Given the description of an element on the screen output the (x, y) to click on. 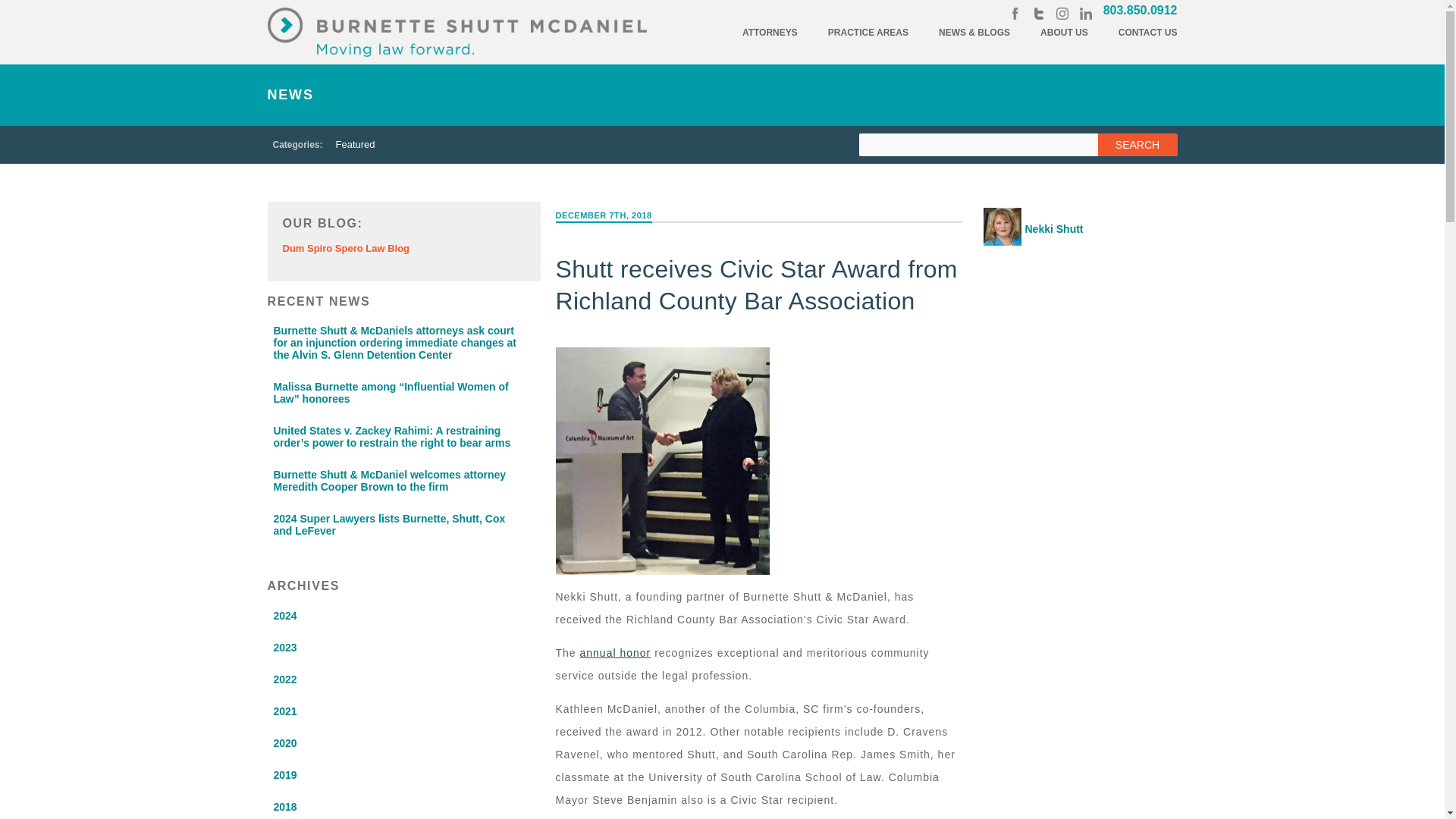
ATTORNEYS (769, 32)
PRACTICE AREAS (868, 32)
2024 Super Lawyers lists Burnette, Shutt, Cox and LeFever (395, 524)
Search (1137, 144)
Search (1137, 144)
Featured (355, 144)
CONTACT US (1147, 32)
2023 (387, 647)
Nekki Shutt (1068, 226)
Dum Spiro Spero Law Blog (345, 247)
2021 (387, 711)
2022 (387, 679)
annual honor (614, 653)
803.850.0912 (1140, 10)
2019 (387, 774)
